Given the description of an element on the screen output the (x, y) to click on. 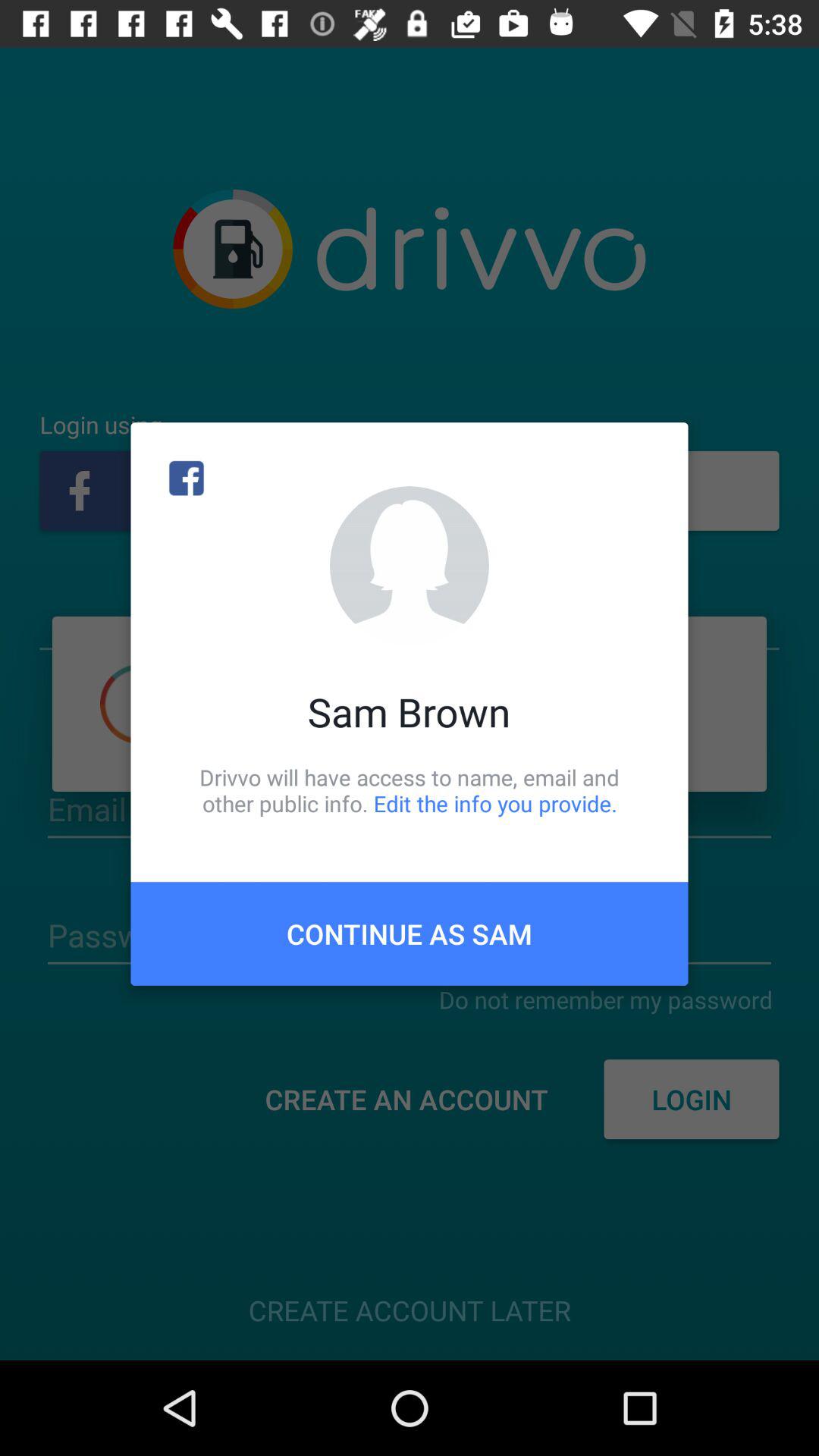
swipe to continue as sam item (409, 933)
